Given the description of an element on the screen output the (x, y) to click on. 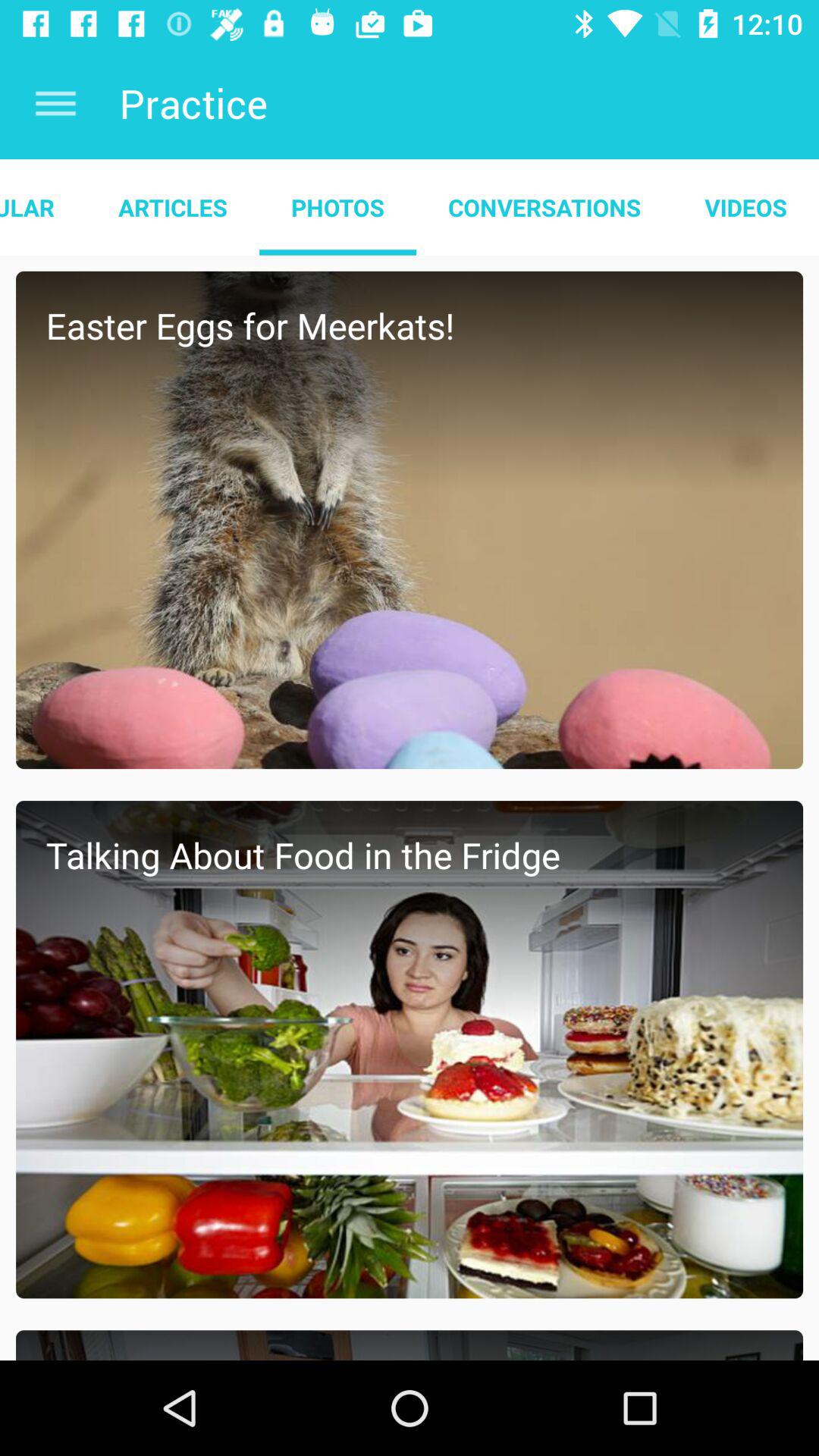
flip to conversations app (544, 207)
